Given the description of an element on the screen output the (x, y) to click on. 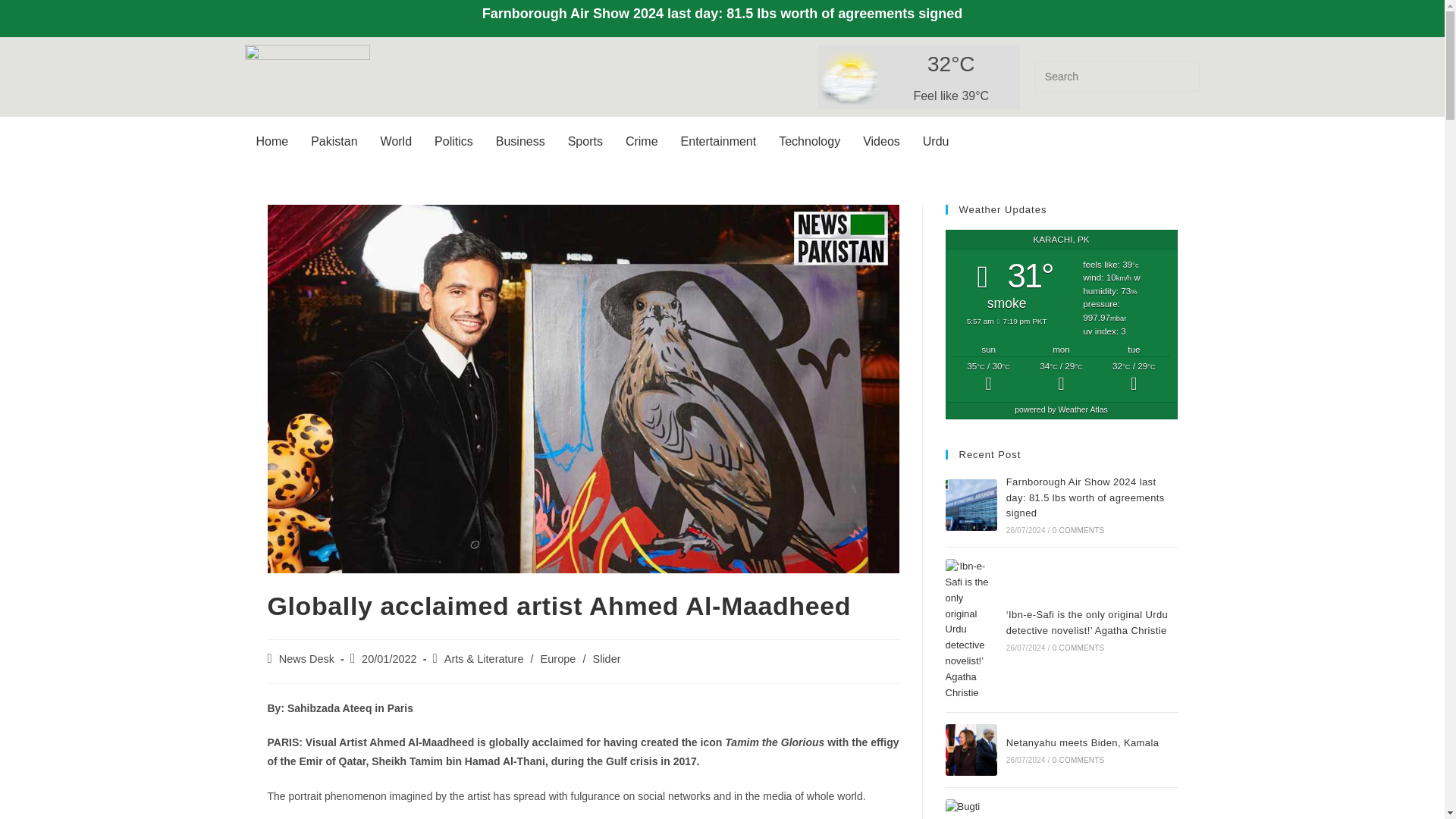
Crime (641, 141)
Technology (809, 141)
Posts by News Desk (306, 658)
Entertainment (718, 141)
Urdu (935, 141)
Pakistan (333, 141)
Business (520, 141)
AM Thunderstorms (1061, 377)
Home (271, 141)
Feels like (951, 96)
Sports (585, 141)
Temp (951, 64)
Politics (453, 141)
Cloudy (988, 377)
Videos (881, 141)
